Given the description of an element on the screen output the (x, y) to click on. 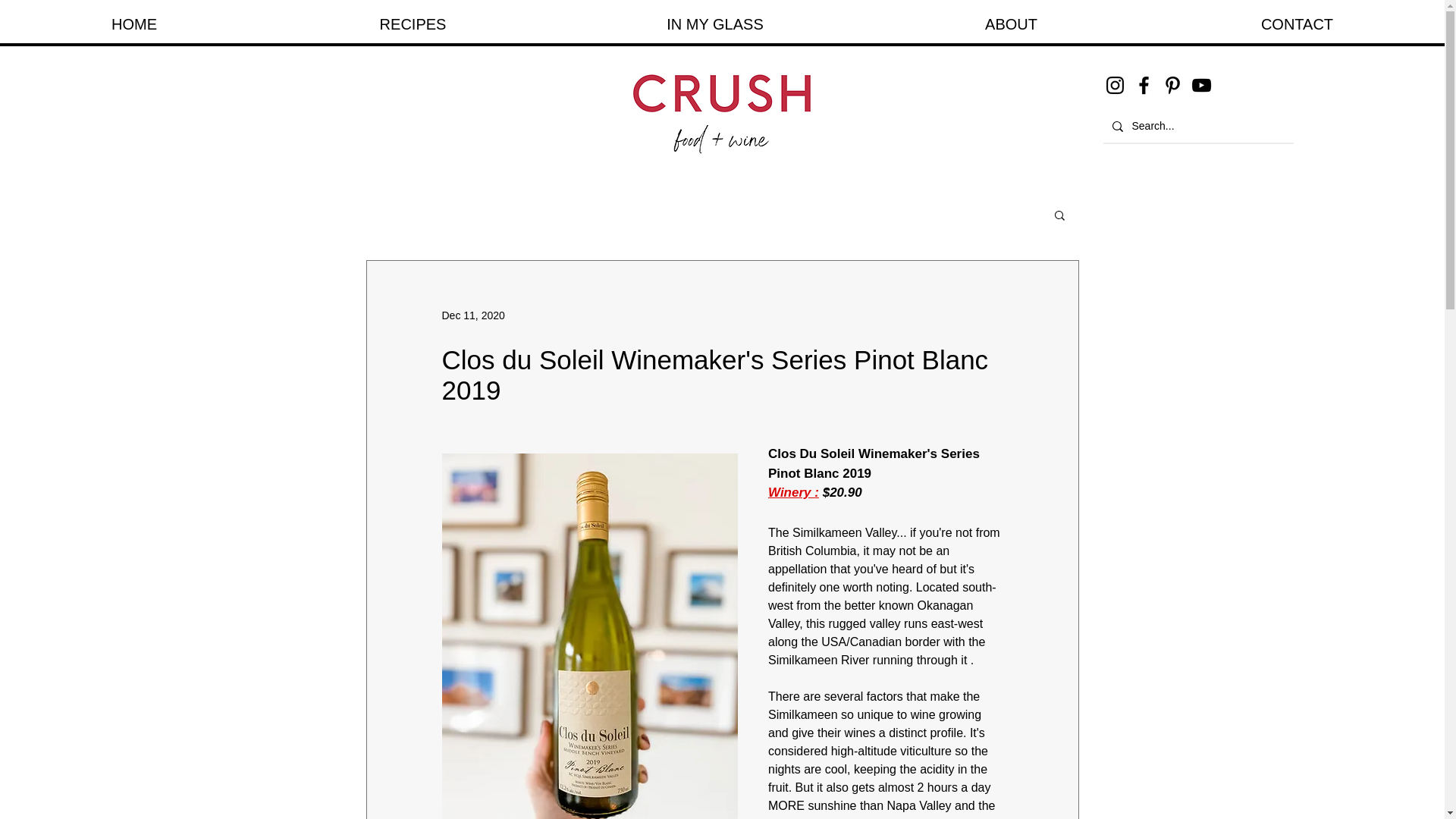
ABOUT (1010, 24)
RECIPES (411, 24)
IN MY GLASS (714, 24)
Dec 11, 2020 (472, 315)
Winery  (790, 492)
HOME (133, 24)
